Given the description of an element on the screen output the (x, y) to click on. 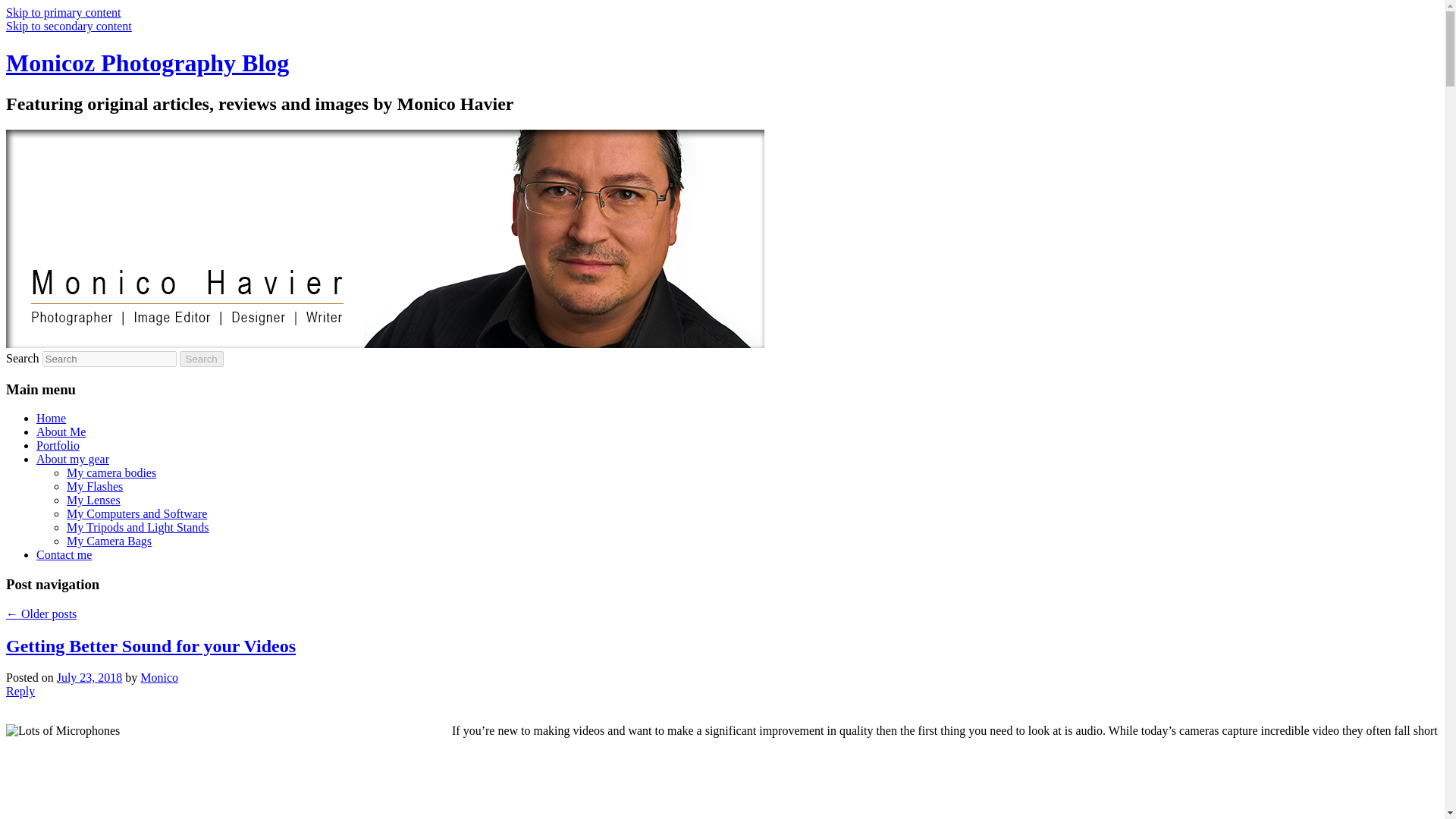
Monico (158, 676)
Reply (19, 690)
Skip to primary content (62, 11)
My Computers and Software (136, 513)
Home (50, 418)
About my gear (72, 459)
Search (201, 358)
Search (201, 358)
4:09 pm (89, 676)
July 23, 2018 (89, 676)
My Camera Bags (108, 540)
My Lenses (93, 499)
Skip to secondary content (68, 25)
Contact me (63, 554)
View all posts by Monico (158, 676)
